Given the description of an element on the screen output the (x, y) to click on. 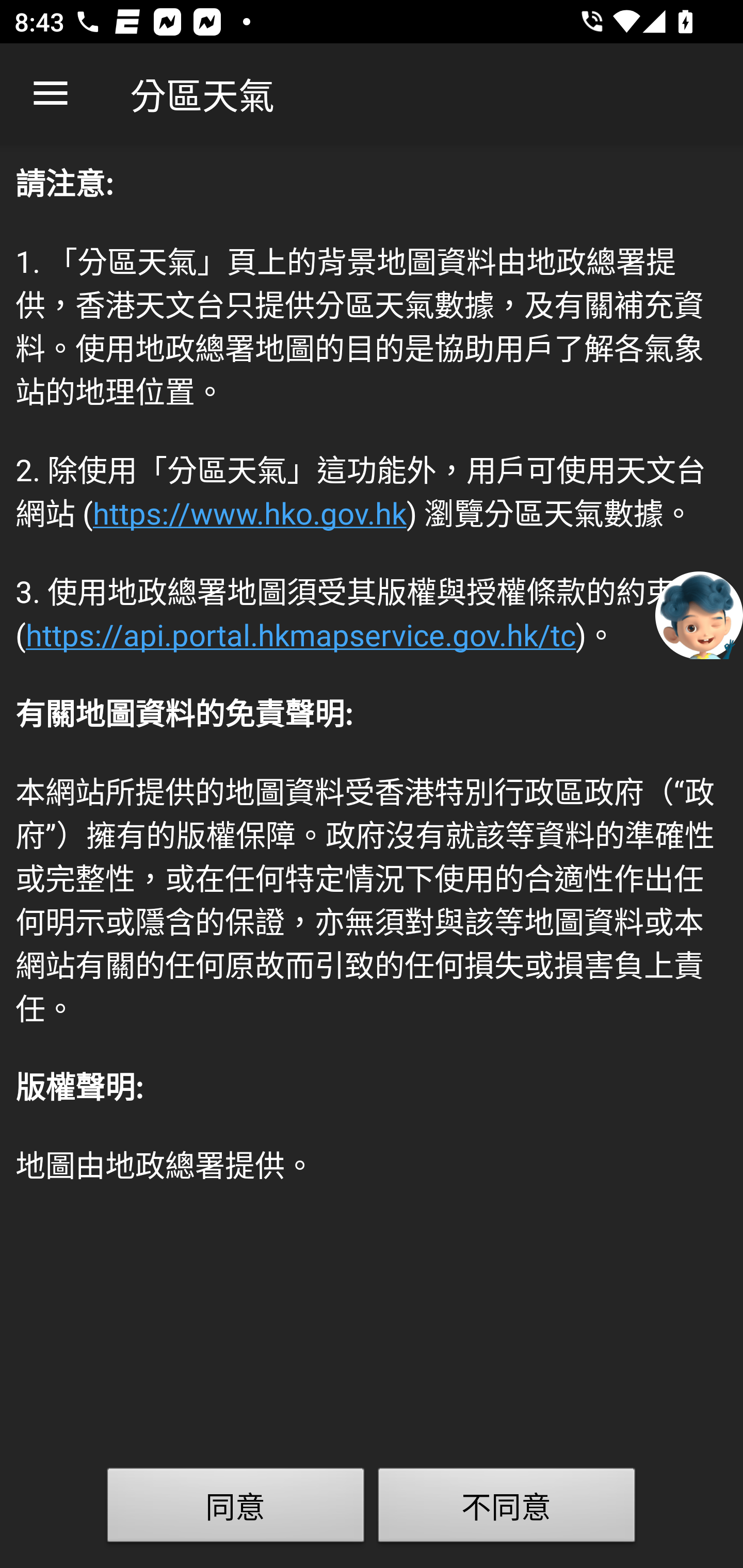
向上瀏覽 (50, 93)
聊天機械人 (699, 614)
同意 (235, 1509)
不同意 (506, 1509)
